Given the description of an element on the screen output the (x, y) to click on. 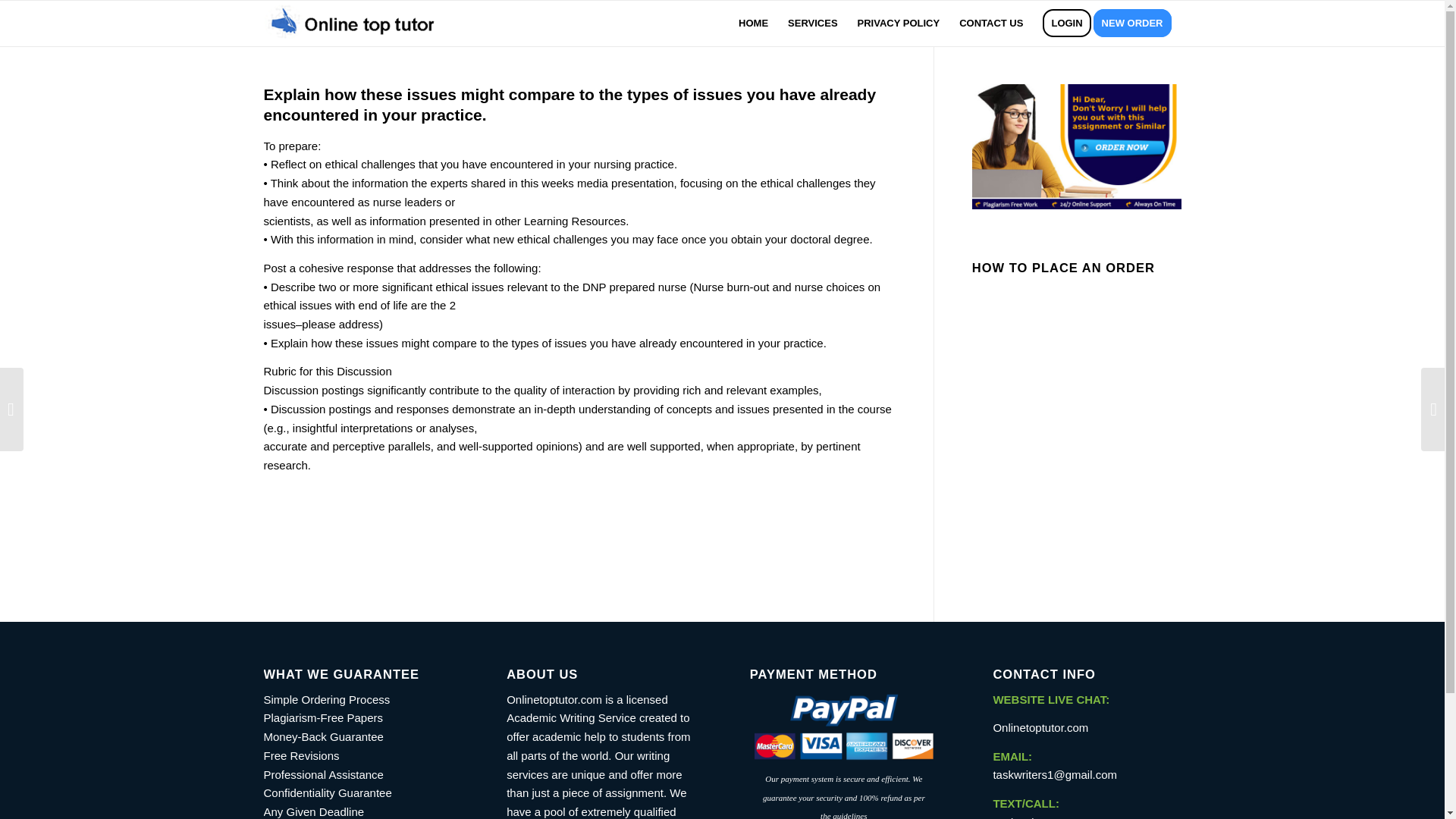
NEW ORDER (1136, 22)
CONTACT US (990, 22)
LOGIN (1066, 22)
PRIVACY POLICY (898, 22)
SERVICES (812, 22)
HOME (753, 22)
